Given the description of an element on the screen output the (x, y) to click on. 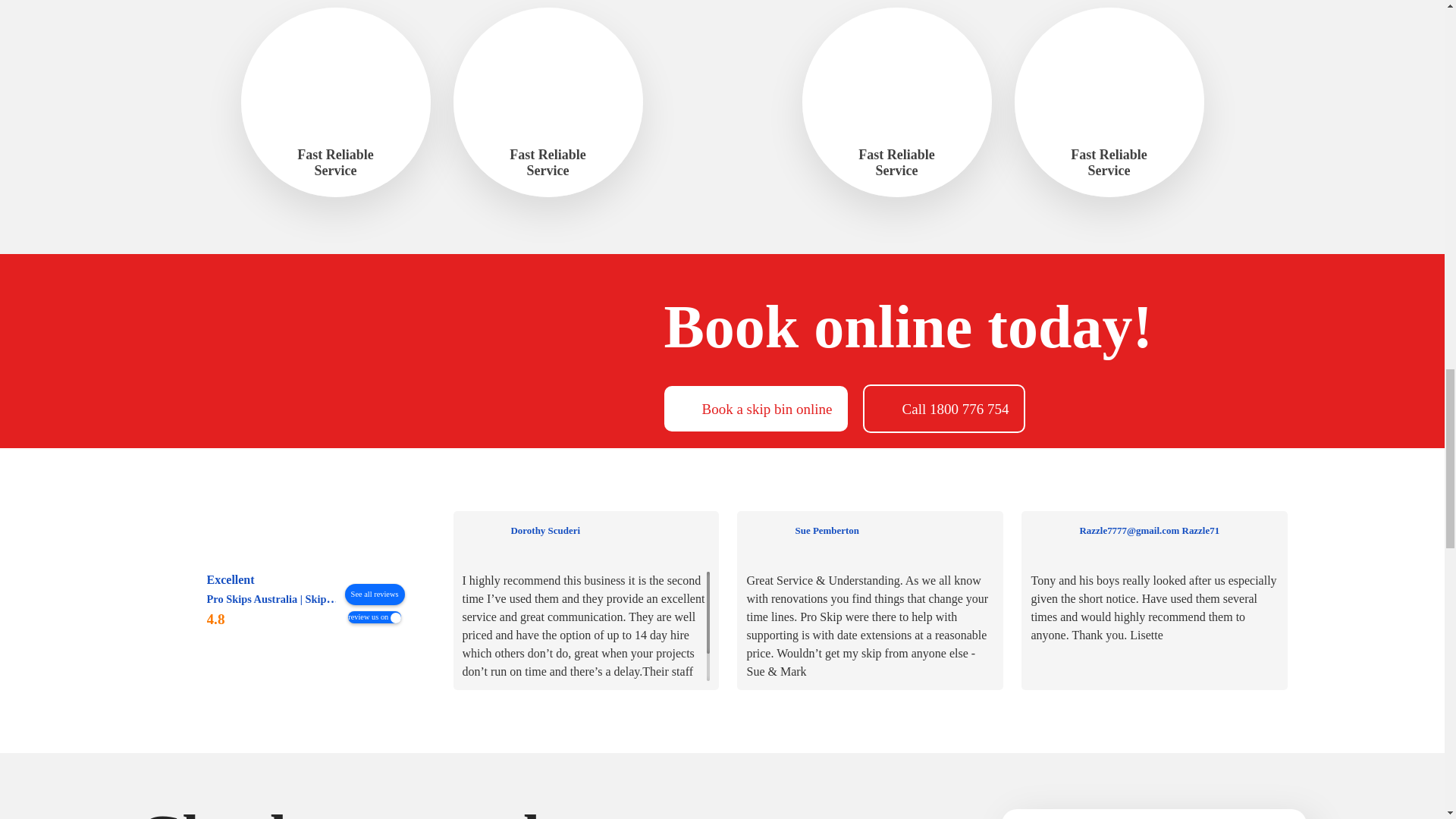
Book a skip bin online (755, 408)
Sue Pemberton (826, 530)
Sue Pemberton (894, 530)
Dorothy Scuderi (482, 539)
Dorothy Scuderi (610, 530)
Sue Pemberton (765, 539)
See all reviews (374, 594)
Call 1800 776 754 (944, 408)
Cathy Ciano (1389, 530)
